Given the description of an element on the screen output the (x, y) to click on. 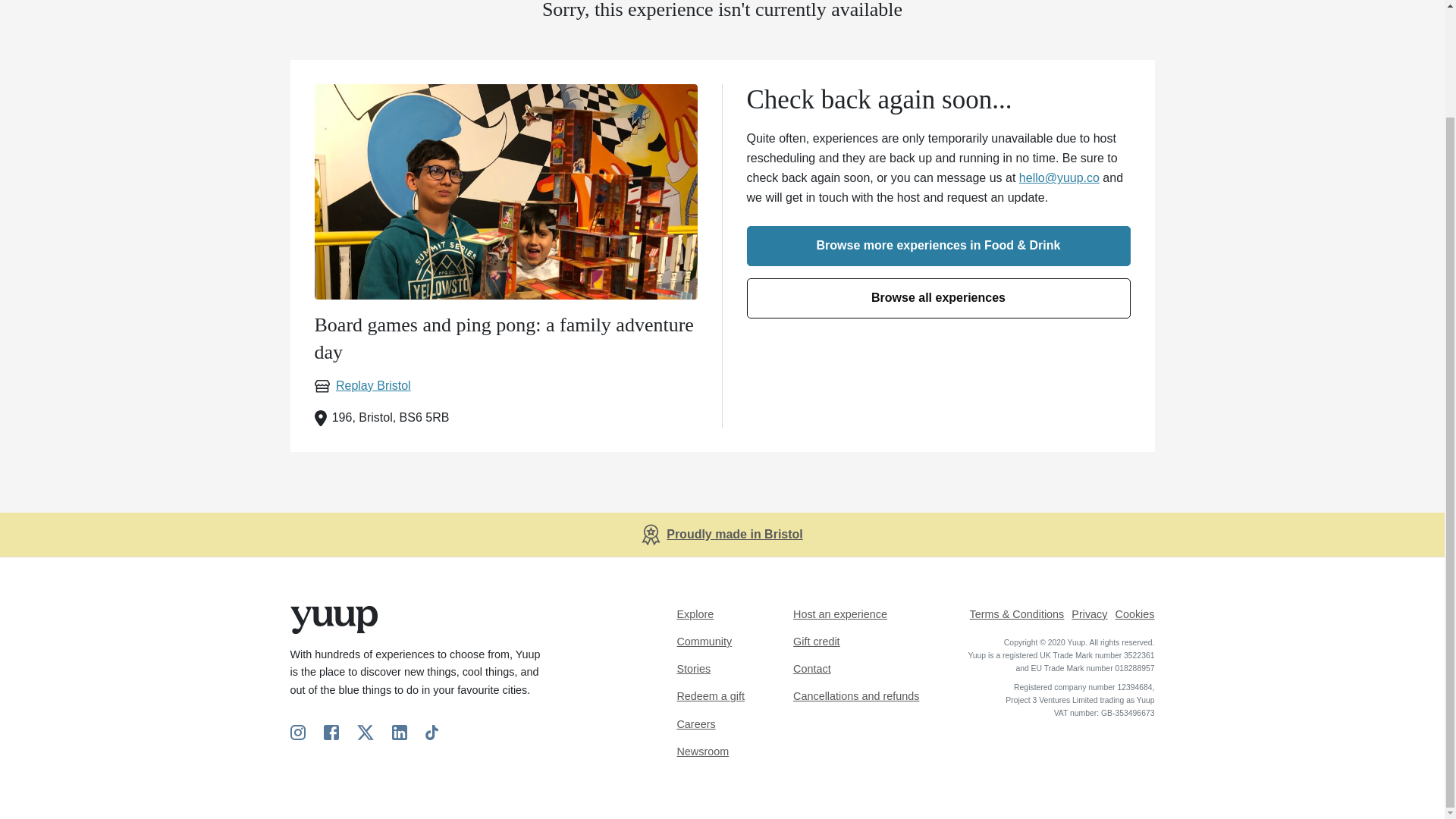
Explore (695, 613)
Stories (693, 668)
Host an experience (839, 613)
Community (704, 641)
Redeem a gift (710, 695)
Gift credit (816, 641)
Cancellations and refunds (855, 695)
Newsroom (703, 751)
Replay Bristol (362, 385)
Proudly made in Bristol (734, 534)
Careers (695, 724)
Contact (812, 668)
Twitter (364, 732)
Browse all experiences (937, 298)
